Given the description of an element on the screen output the (x, y) to click on. 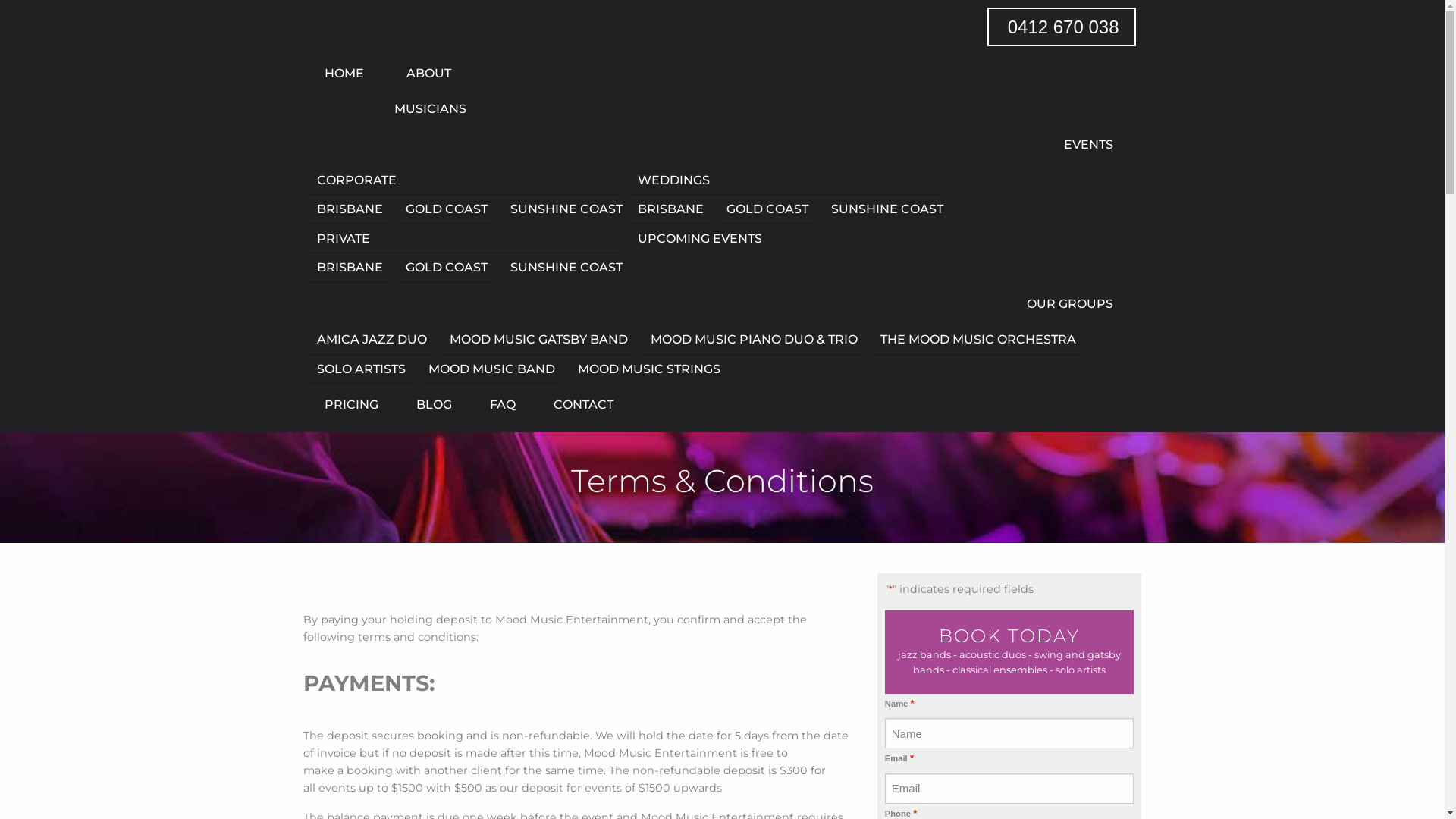
MOOD MUSIC GATSBY BAND Element type: text (538, 339)
WEDDINGS Element type: text (786, 180)
GOLD COAST Element type: text (766, 209)
HOME Element type: text (344, 73)
FAQ Element type: text (502, 404)
0412 670 038 Element type: text (1061, 26)
UPCOMING EVENTS Element type: text (696, 238)
SUNSHINE COAST Element type: text (562, 267)
CORPORATE Element type: text (465, 180)
SUNSHINE COAST Element type: text (883, 208)
PRICING Element type: text (351, 404)
GOLD COAST Element type: text (446, 209)
THE MOOD MUSIC ORCHESTRA Element type: text (977, 339)
BRISBANE Element type: text (349, 267)
GOLD COAST Element type: text (446, 267)
SOLO ARTISTS Element type: text (361, 369)
OUR GROUPS Element type: text (718, 303)
BRISBANE Element type: text (670, 209)
MOOD MUSIC STRINGS Element type: text (645, 368)
MUSICIANS Element type: text (426, 108)
SUNSHINE COAST Element type: text (562, 208)
MOOD MUSIC PIANO DUO & TRIO Element type: text (754, 339)
PRIVATE Element type: text (465, 239)
ABOUT Element type: text (426, 73)
EVENTS Element type: text (718, 144)
MOOD MUSIC BAND Element type: text (491, 369)
CONTACT Element type: text (575, 404)
AMICA JAZZ DUO Element type: text (371, 339)
BRISBANE Element type: text (349, 209)
BLOG Element type: text (434, 404)
